Given the description of an element on the screen output the (x, y) to click on. 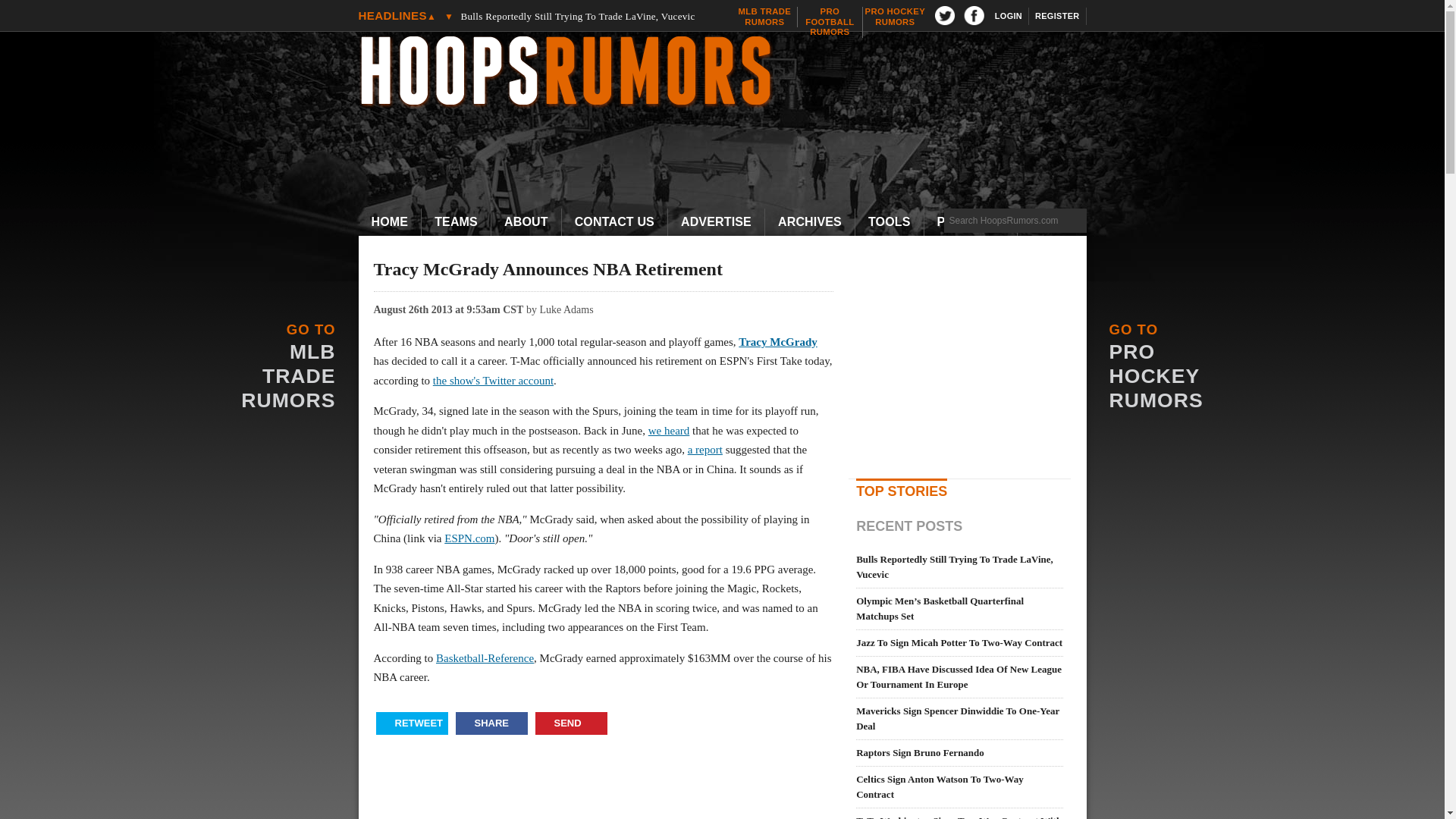
Send Tracy McGrady Announces NBA Retirement with an email (571, 722)
teams (895, 16)
LOGIN (457, 221)
Retweet 'Tracy McGrady Announces NBA Retirement' on Twitter (1008, 16)
HOME (411, 722)
Search (829, 21)
Bulls Reportedly Still Trying To Trade LaVine, Vucevic (390, 221)
